Given the description of an element on the screen output the (x, y) to click on. 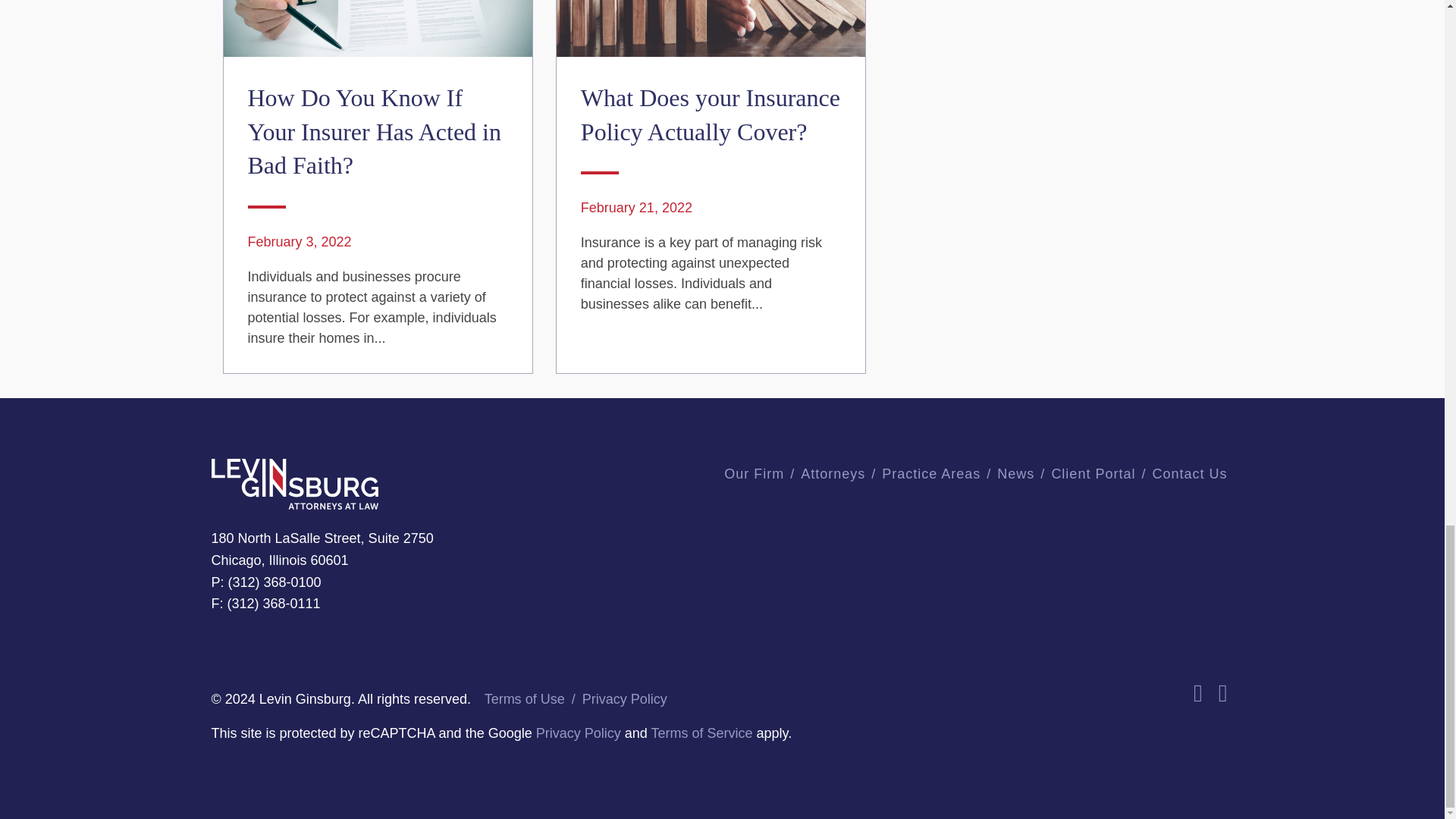
business-insurance - Levin Ginsburg (710, 28)
insurance - Levin Ginsburg (376, 28)
home (294, 483)
